Given the description of an element on the screen output the (x, y) to click on. 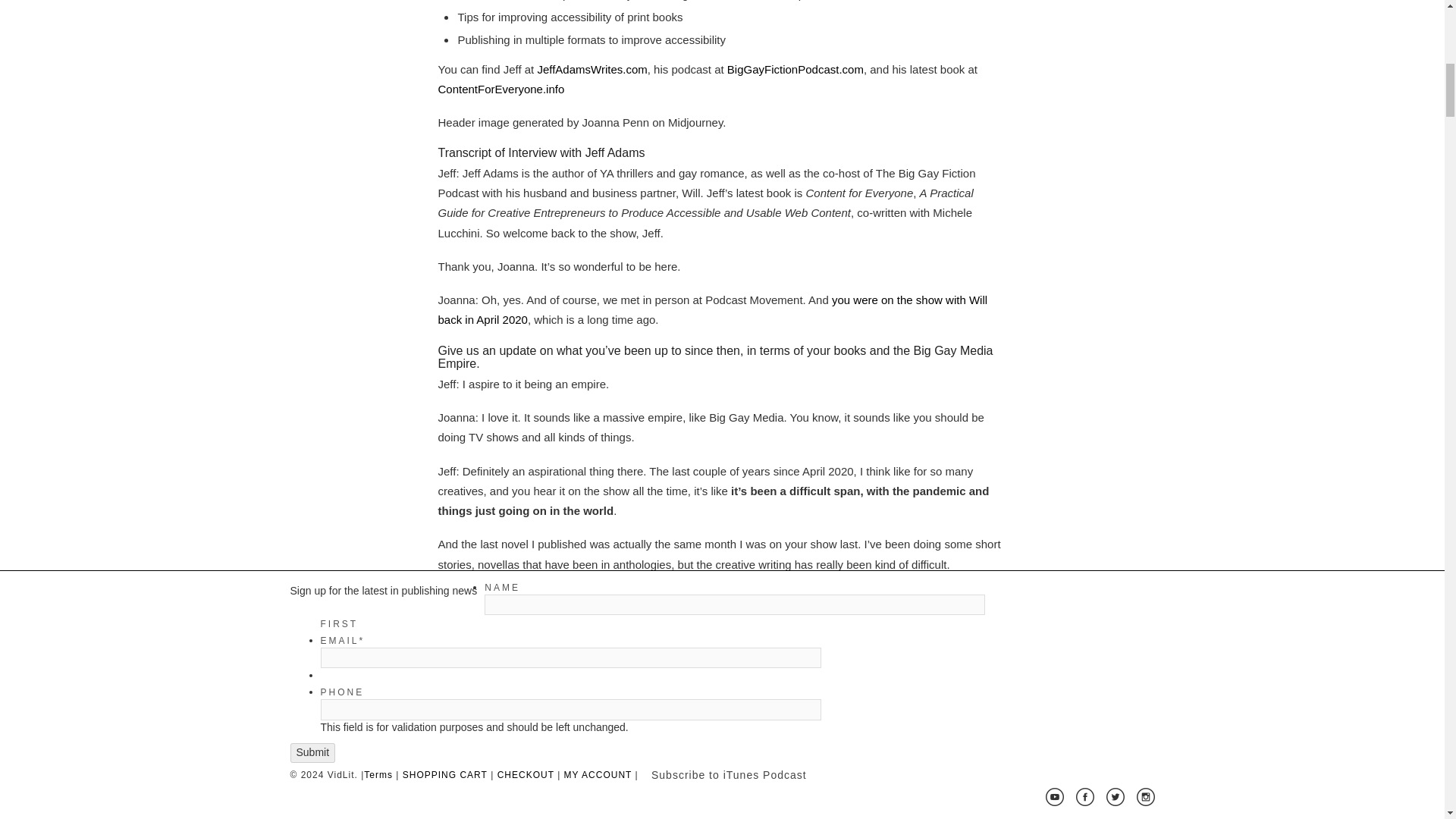
ContentForEveryone.info (501, 88)
you were on the show with Will back in April 2020 (713, 309)
BigGayFictionPodcast.com (794, 69)
JeffAdamsWrites.com (591, 69)
